Given the description of an element on the screen output the (x, y) to click on. 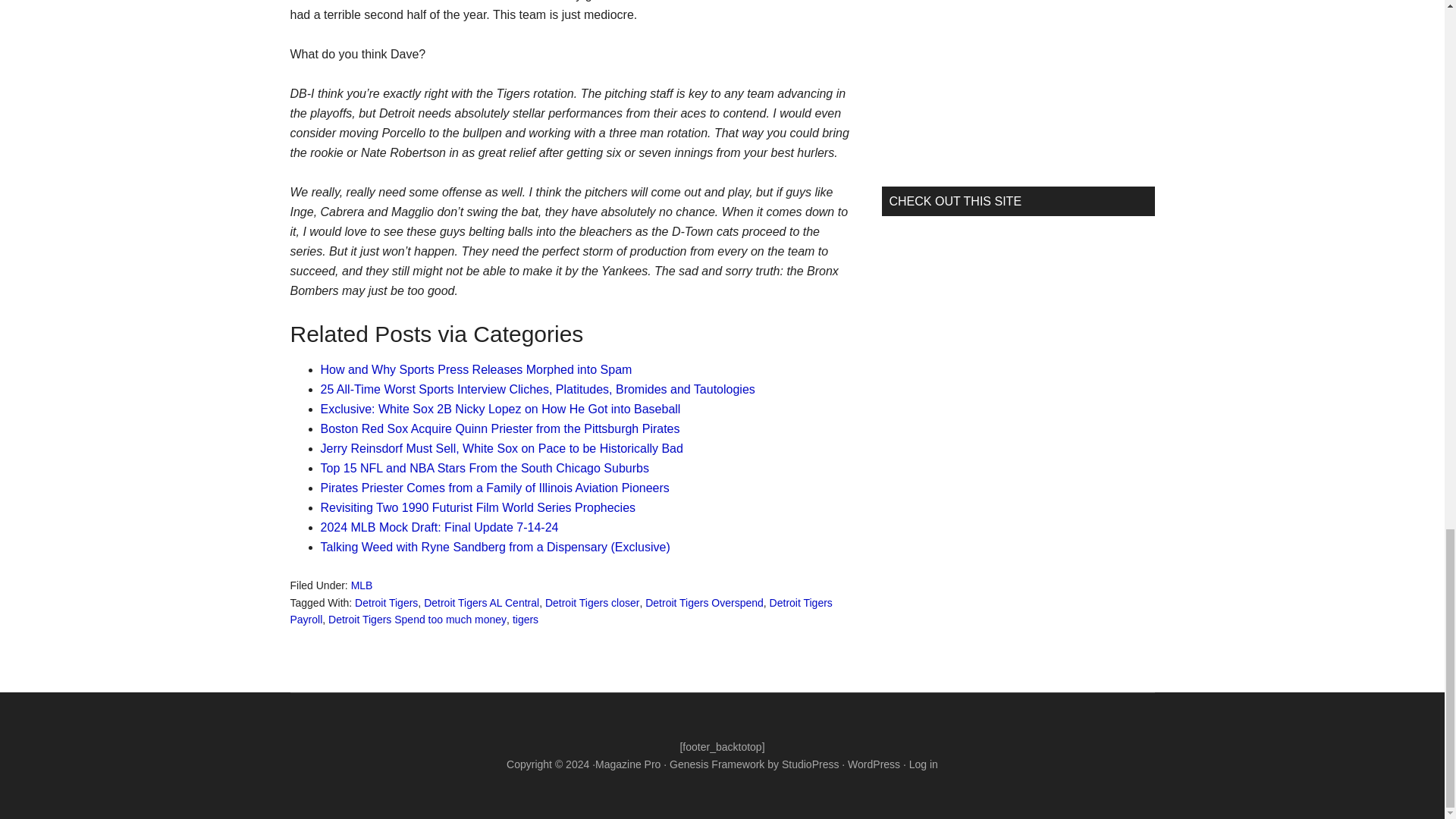
Detroit Tigers closer (591, 603)
Detroit Tigers Overspend (703, 603)
MLB (361, 585)
Detroit Tigers AL Central (480, 603)
edwin-jackson-detroit (760, 7)
How and Why Sports Press Releases Morphed into Spam (475, 369)
